Given the description of an element on the screen output the (x, y) to click on. 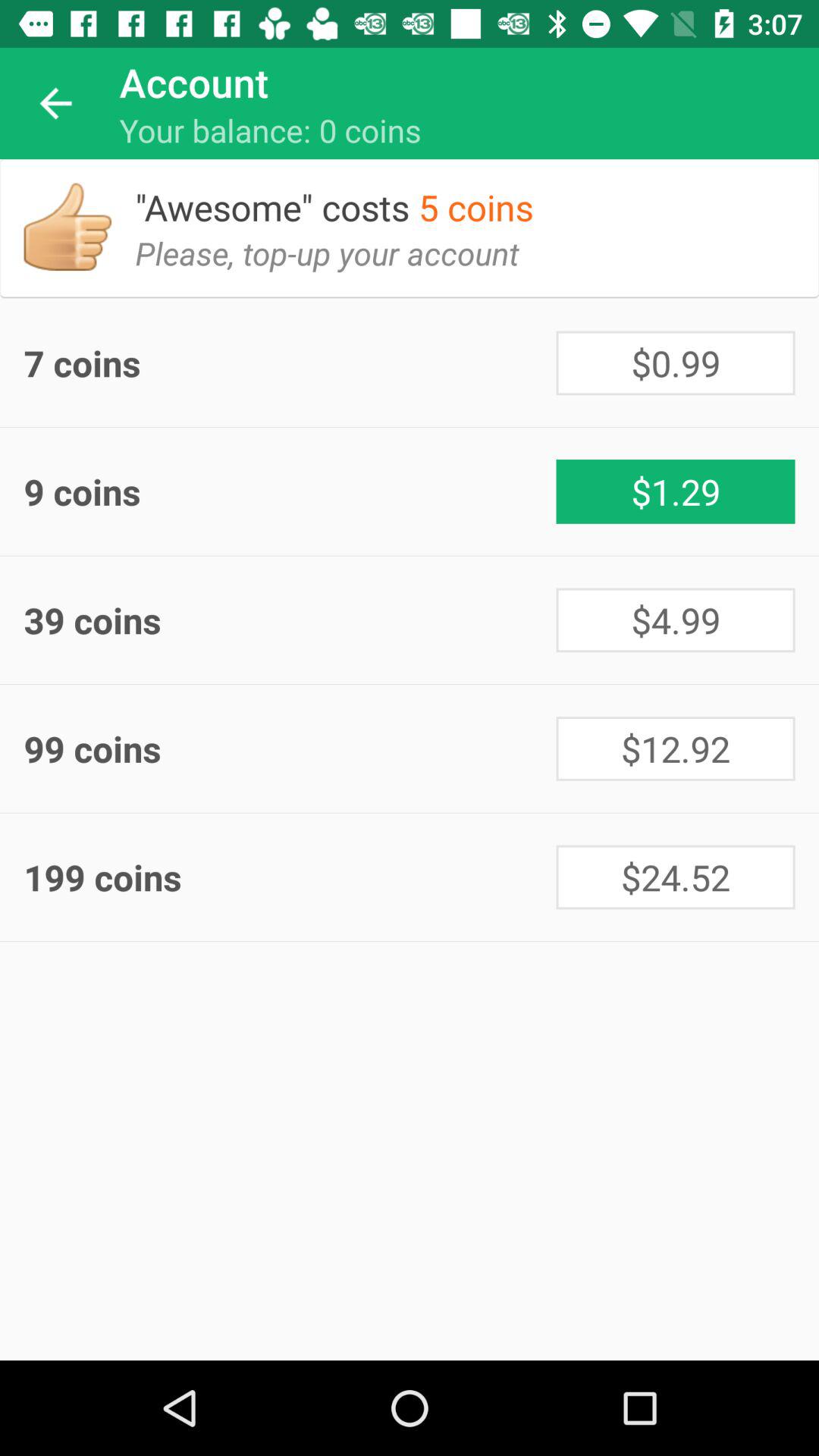
flip until awesome costs 5 (346, 195)
